Given the description of an element on the screen output the (x, y) to click on. 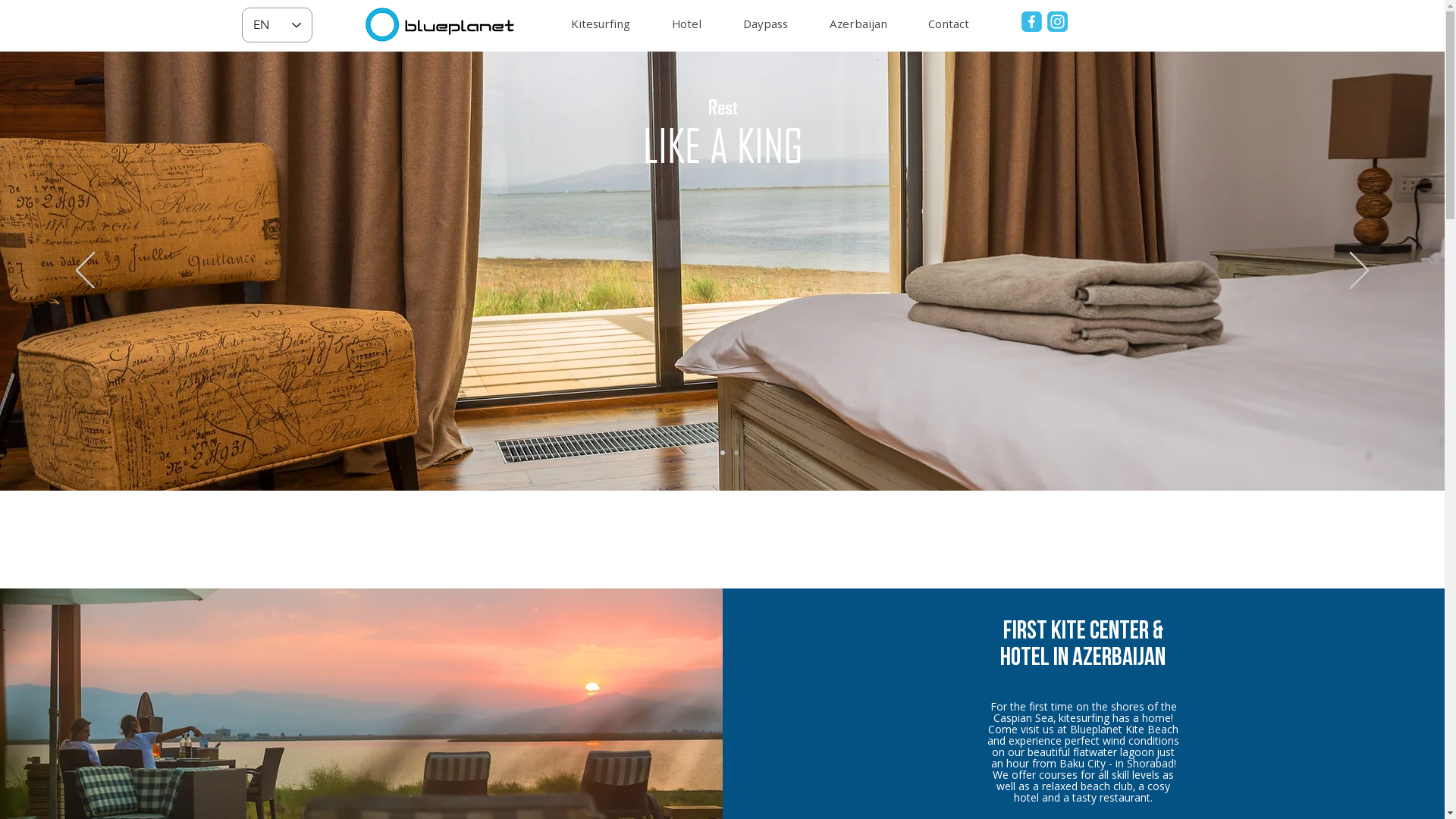
Daypass Element type: text (774, 25)
Contact Element type: text (956, 25)
Azerbaijan Element type: text (866, 25)
